Given the description of an element on the screen output the (x, y) to click on. 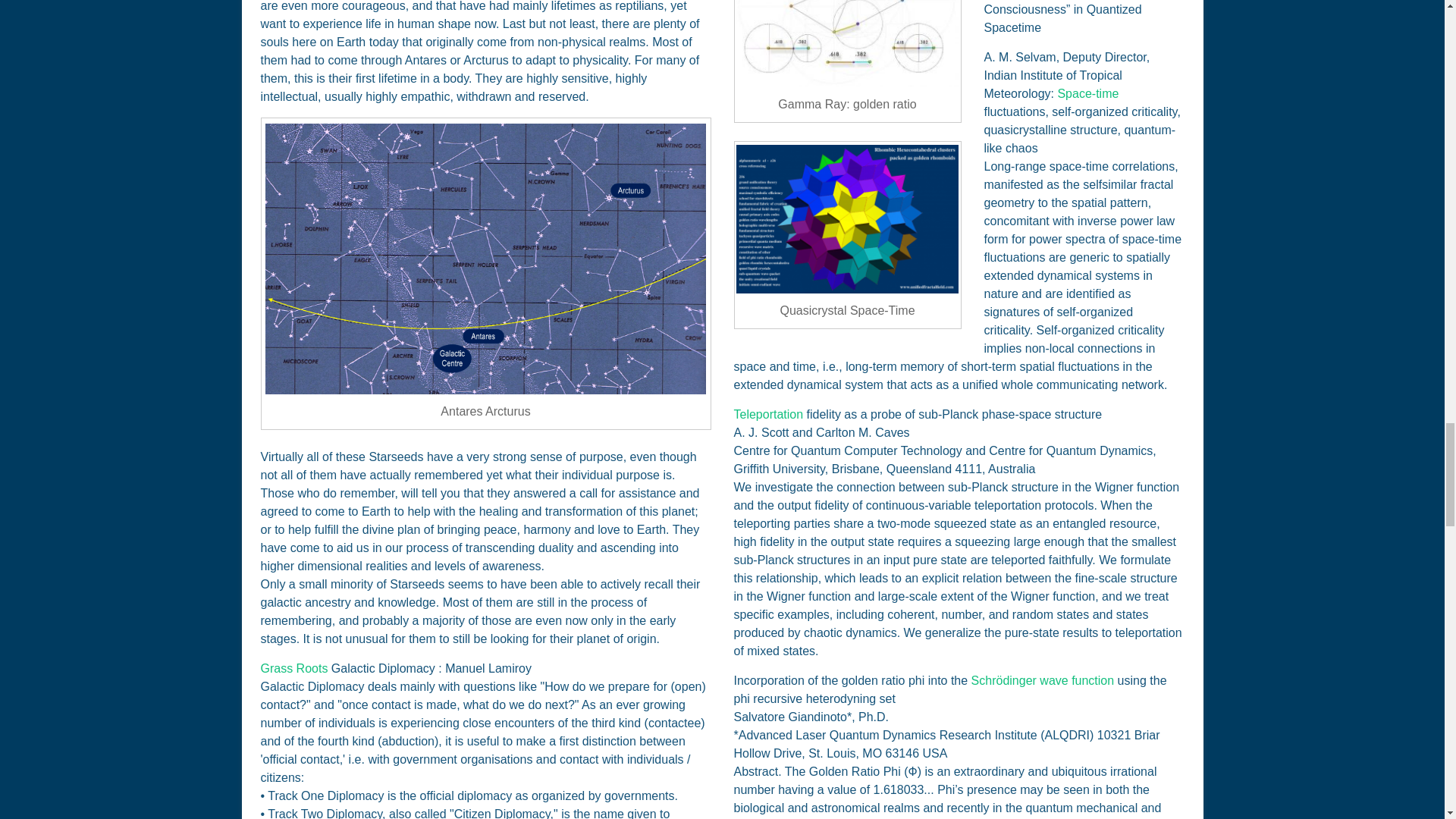
Grass Roots (294, 667)
